Given the description of an element on the screen output the (x, y) to click on. 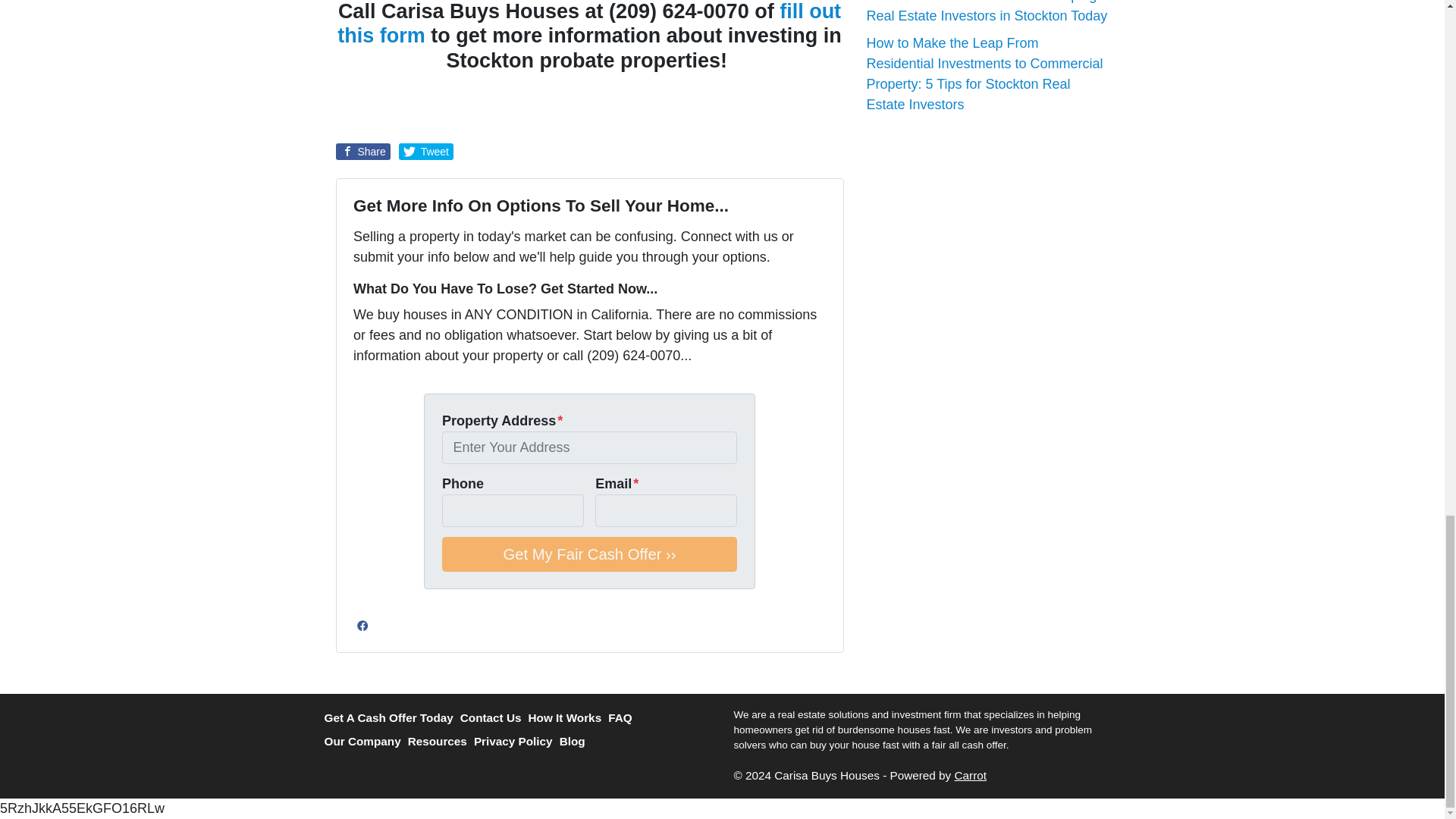
Share on Twitter (425, 151)
Facebook (362, 625)
fill out this form (589, 23)
Resources (440, 741)
Get A Cash Offer Today (392, 718)
FAQ (623, 718)
Share on Facebook (362, 151)
Privacy Policy (516, 741)
Blog (575, 741)
Share (362, 151)
How It Works (568, 718)
Carrot (970, 775)
Contact Us (494, 718)
